Given the description of an element on the screen output the (x, y) to click on. 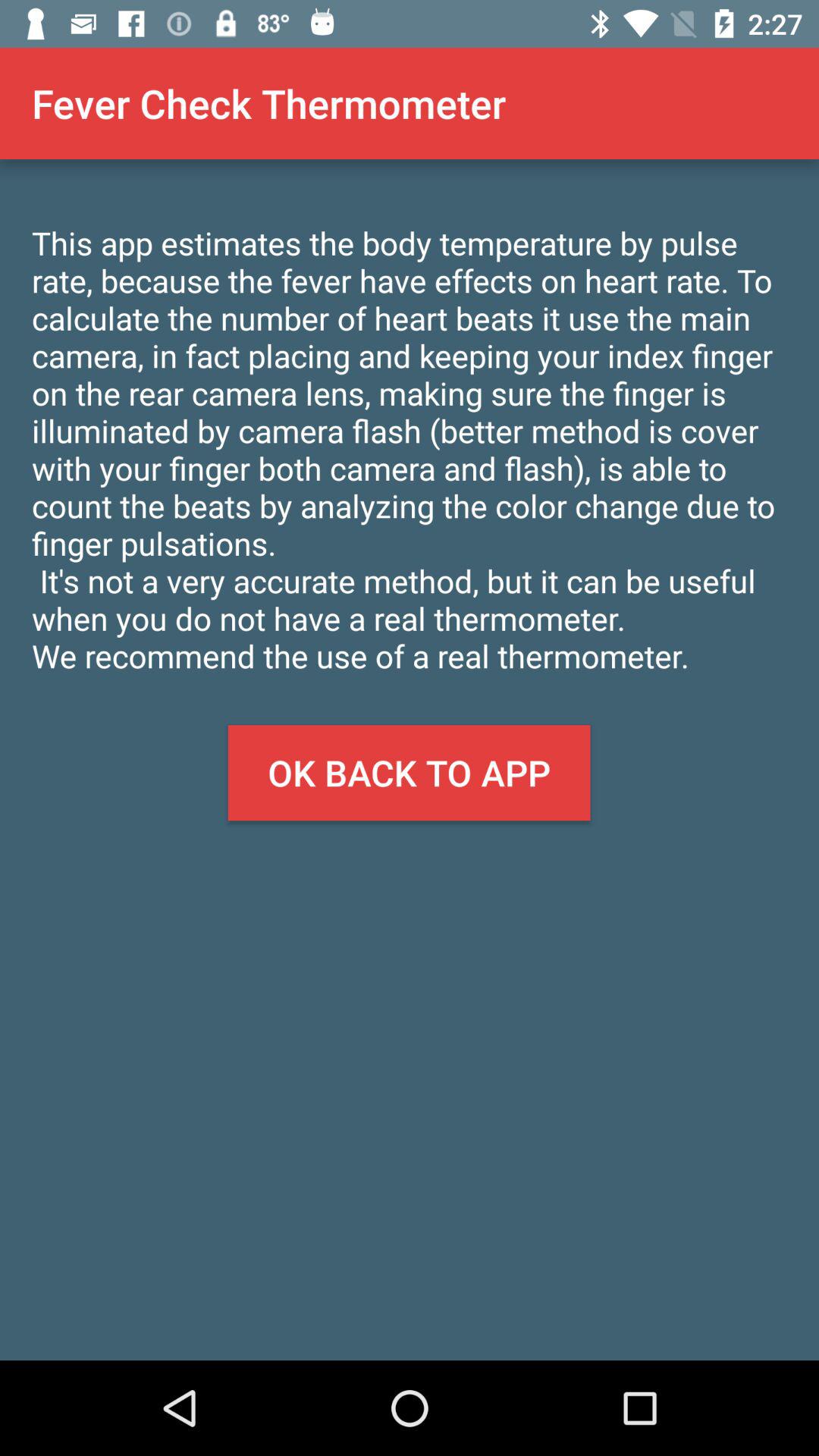
flip until ok back to item (409, 772)
